Given the description of an element on the screen output the (x, y) to click on. 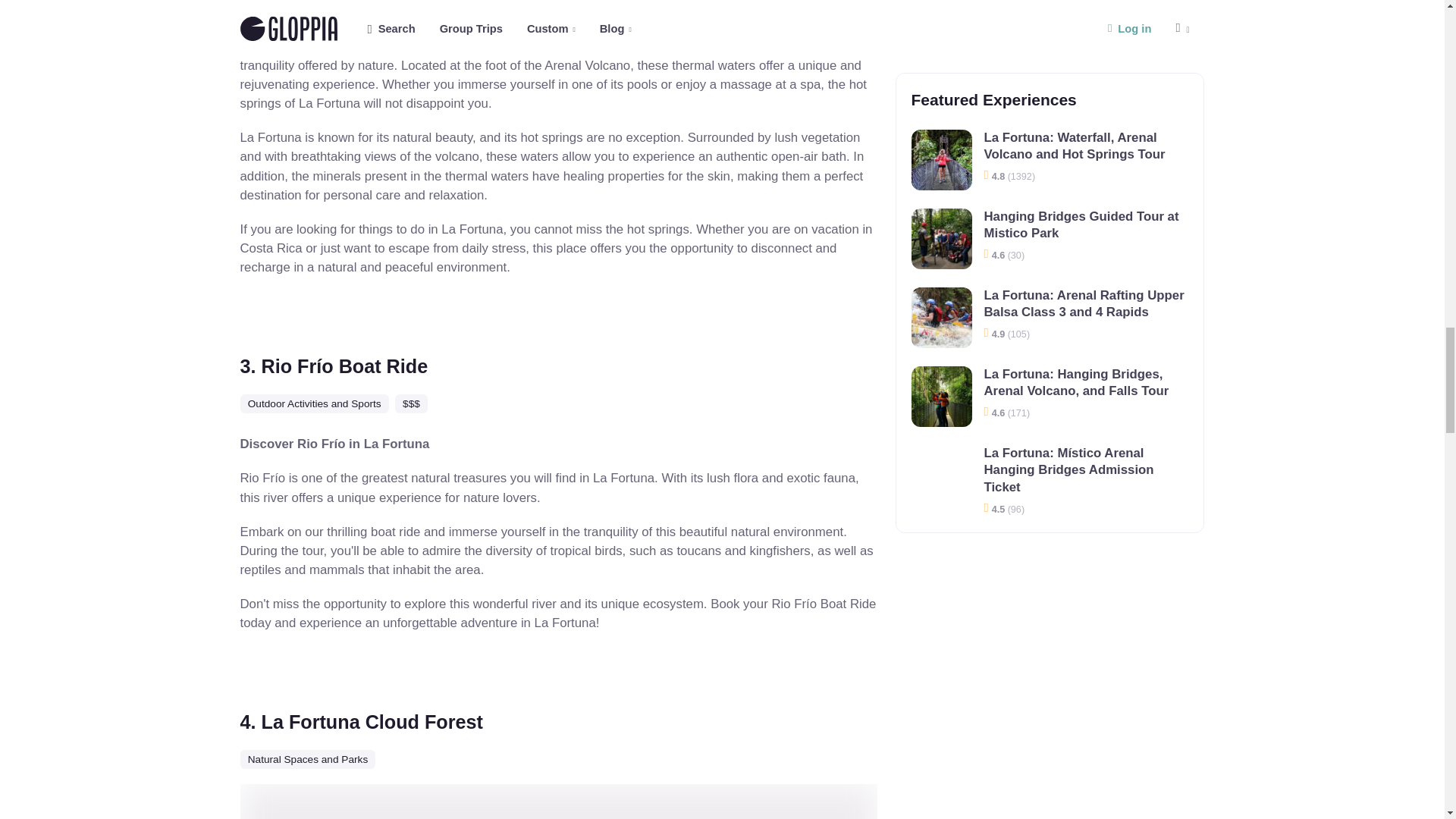
brown wooden bridge in the woods (558, 801)
